Given the description of an element on the screen output the (x, y) to click on. 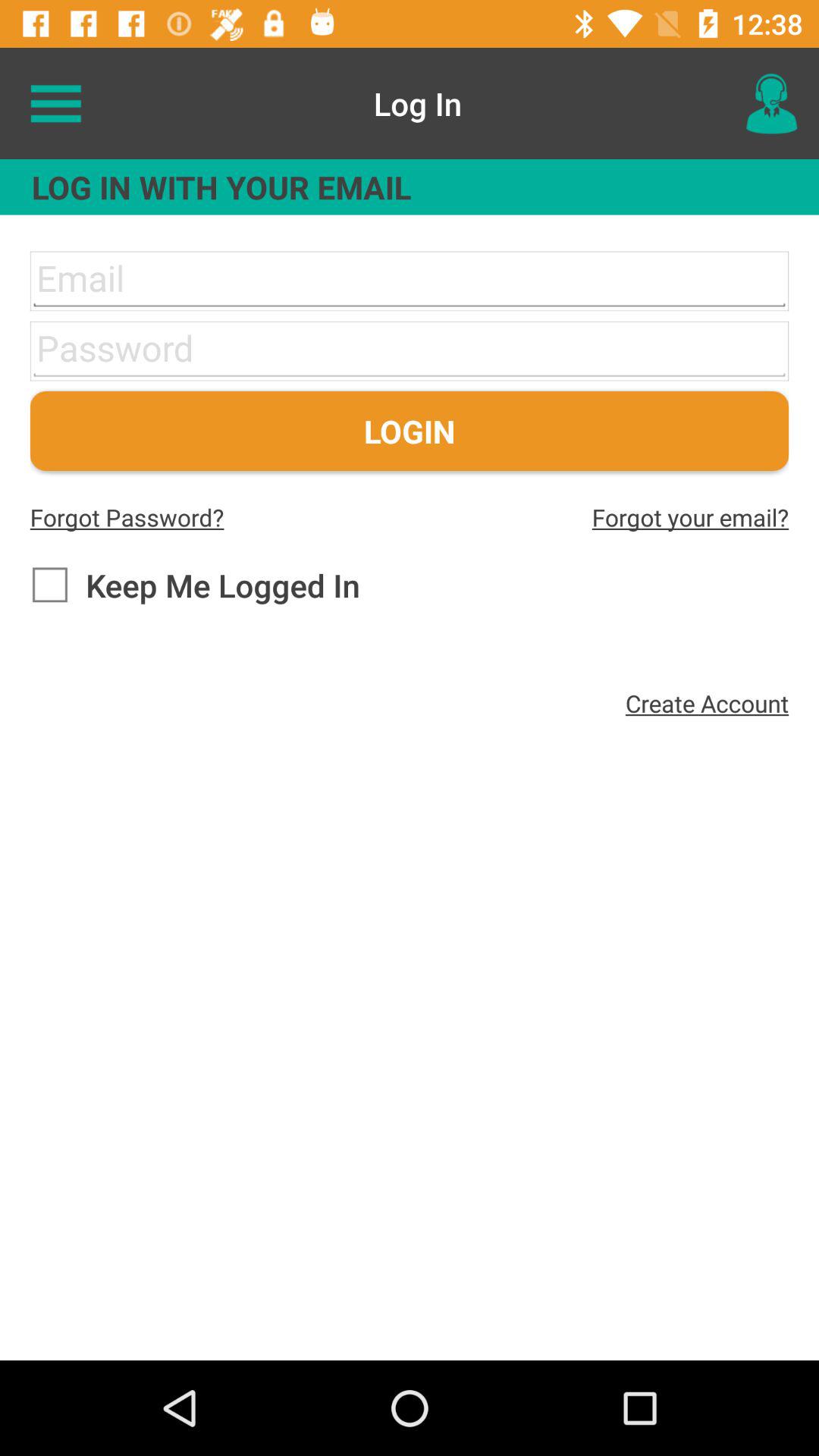
click create account icon (706, 703)
